Given the description of an element on the screen output the (x, y) to click on. 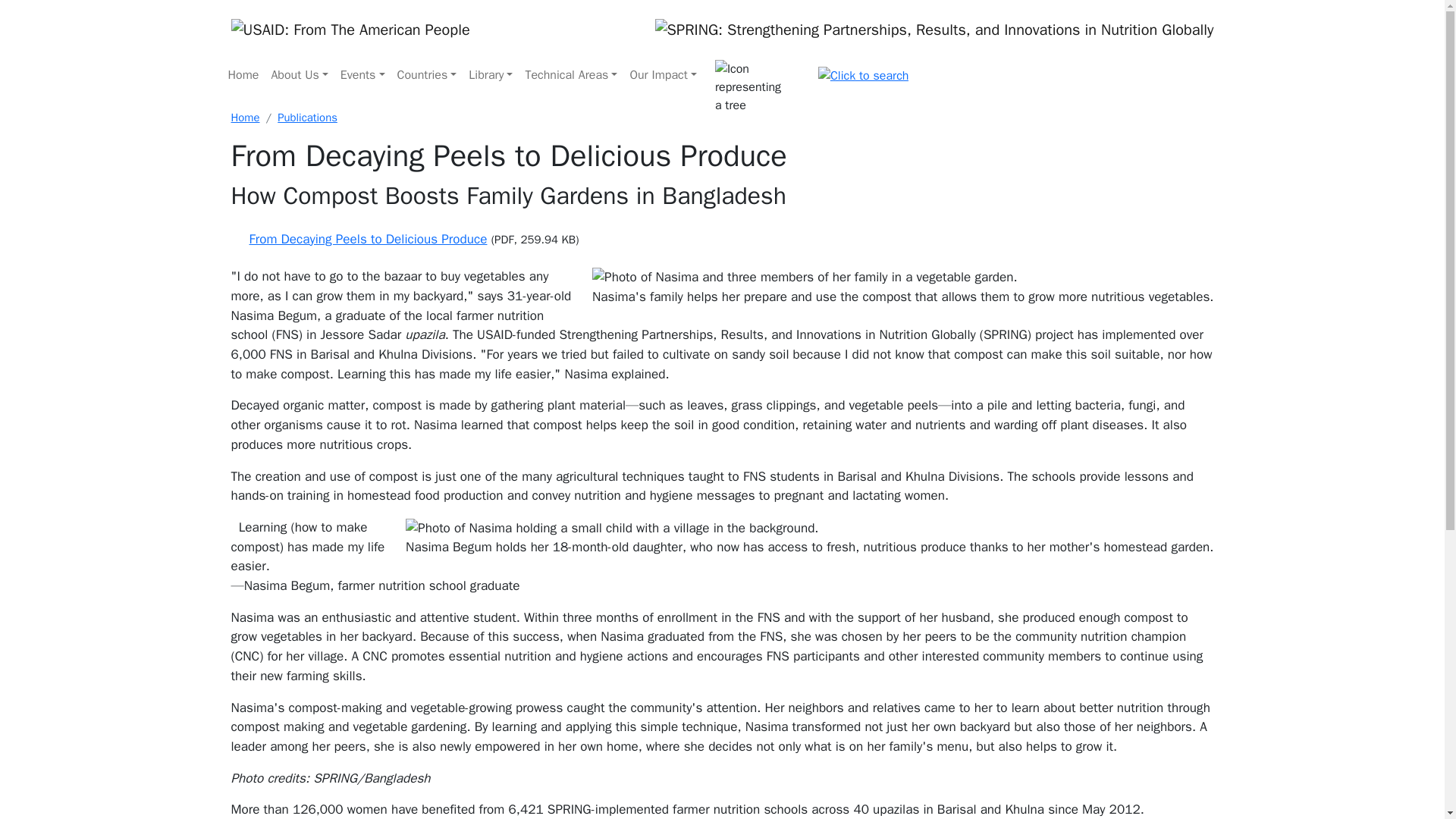
Events (362, 74)
Library (490, 74)
Countries (427, 74)
About Us (298, 74)
Home (242, 74)
